Given the description of an element on the screen output the (x, y) to click on. 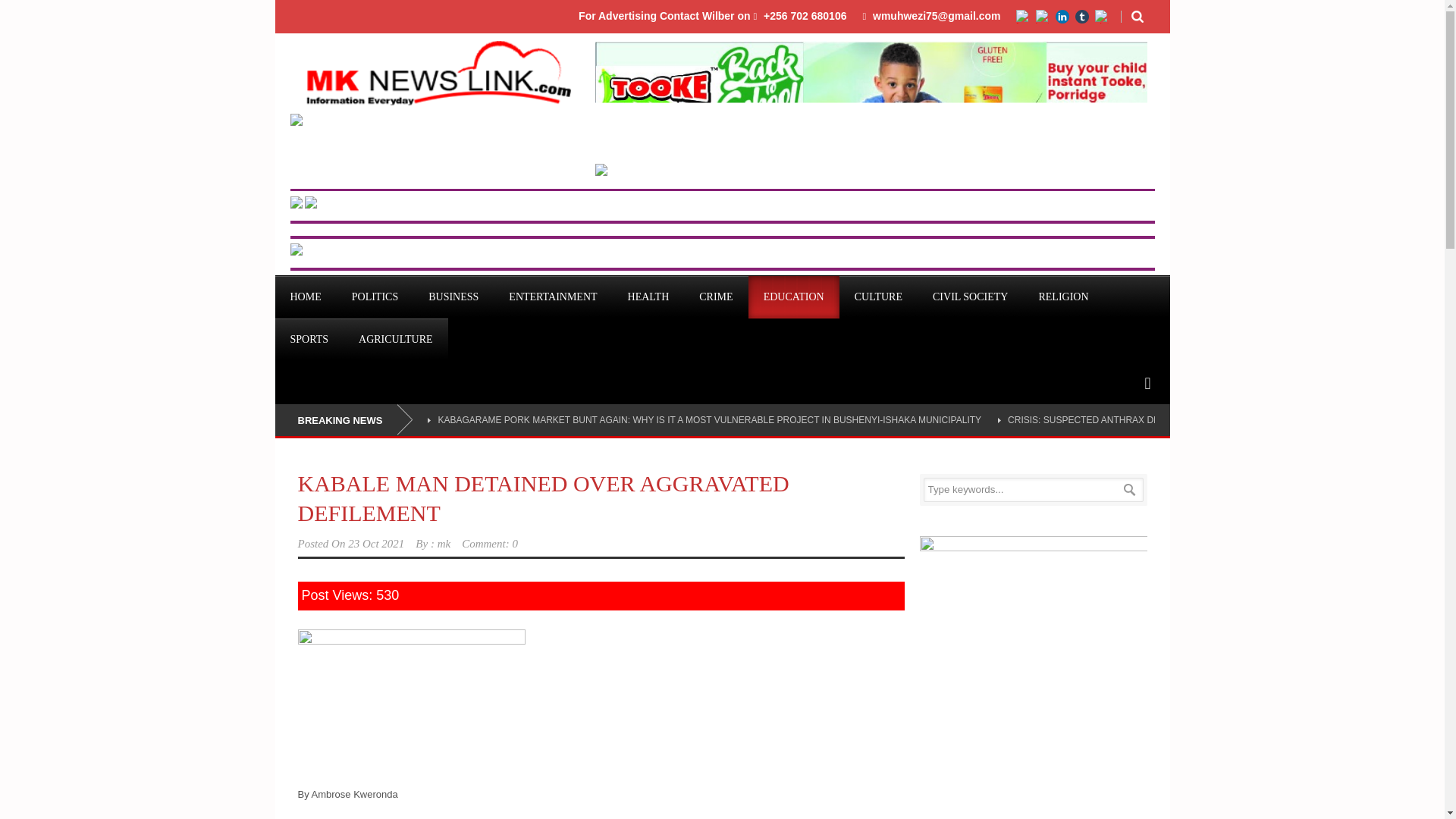
Type keywords... (1032, 489)
Posts by mk (444, 543)
KABALE MAN DETAINED OVER AGGRAVATED DEFILEMENT (543, 497)
SPORTS (309, 339)
HEALTH (648, 297)
RELIGION (1063, 297)
AGRICULTURE (395, 339)
CIVIL SOCIETY (970, 297)
HOME (305, 297)
POLITICS (374, 297)
Comment: 0 (489, 543)
ENTERTAINMENT (552, 297)
EDUCATION (794, 297)
CRIME (716, 297)
